Given the description of an element on the screen output the (x, y) to click on. 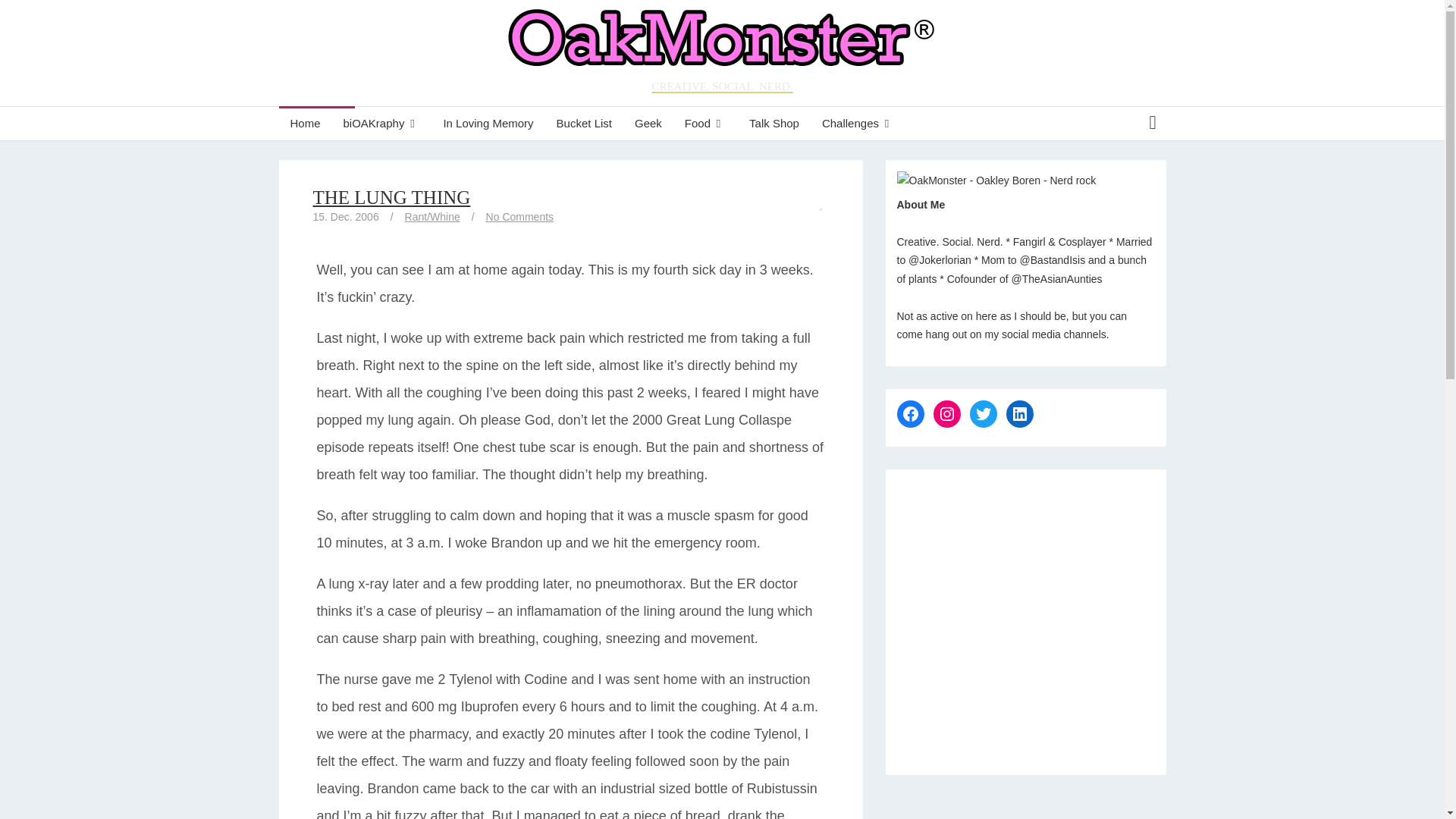
Spotify Embed: Office Radio (1025, 613)
Food (705, 123)
In Loving Memory (487, 123)
CREATIVE. SOCIAL. NERD. (722, 53)
a little life story (381, 123)
Bucket List (583, 123)
Oakley remembers her late mother (487, 123)
biOAKraphy (381, 123)
Geek (647, 123)
No Comments (519, 216)
Home (305, 123)
THE LUNG THING (391, 197)
Talk Shop (774, 123)
Challenges (857, 123)
